Given the description of an element on the screen output the (x, y) to click on. 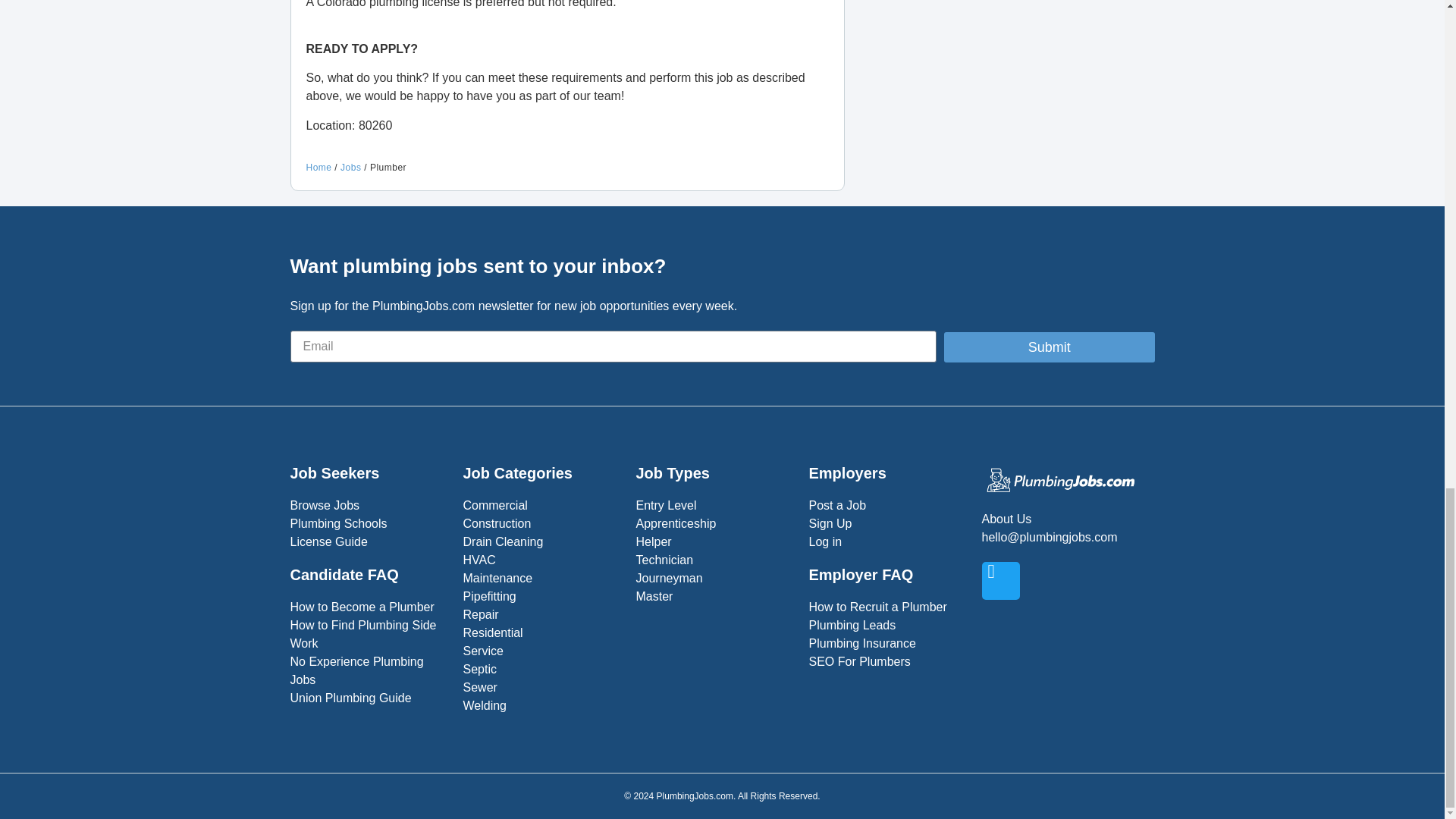
No Experience Plumbing Jobs (367, 670)
Submit (1048, 347)
Welding (541, 705)
Commercial (541, 505)
Sewer (541, 687)
Entry Level (713, 505)
Apprenticeship (713, 524)
Residential (541, 633)
Union Plumbing Guide (367, 698)
Repair (541, 615)
Home (318, 167)
Maintenance (541, 578)
Septic (541, 669)
Construction (541, 524)
Plumbing Schools (367, 524)
